Given the description of an element on the screen output the (x, y) to click on. 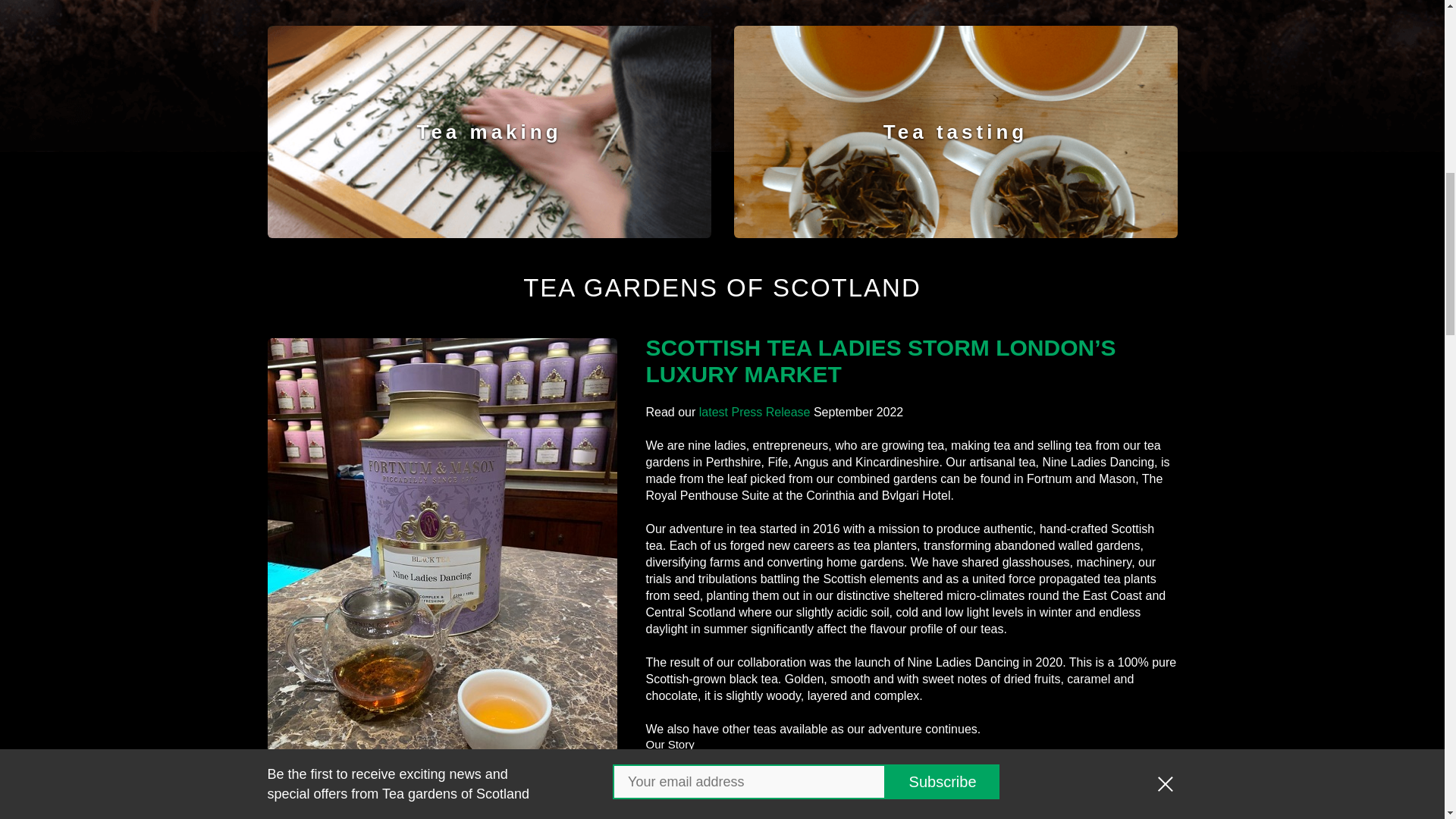
Tea making (488, 132)
Tea tasting (955, 132)
latest Press Release (754, 411)
